Given the description of an element on the screen output the (x, y) to click on. 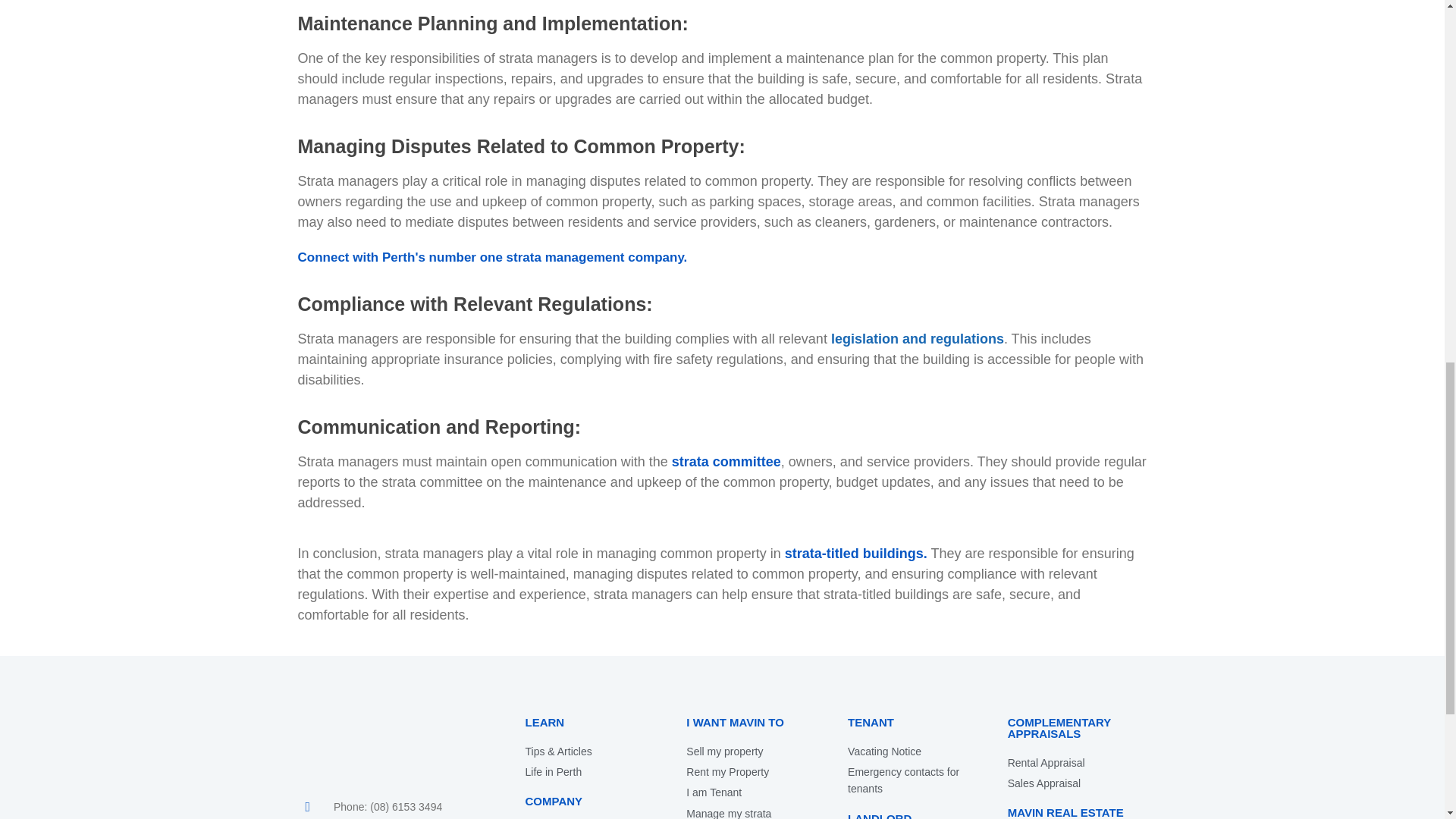
Life in Perth (590, 771)
strata-titled buildings. (855, 553)
Rent my Property (750, 771)
strata committee (725, 461)
Sell my property (750, 751)
I am Tenant (750, 791)
Connect with Perth's number one strata management company. (492, 257)
legislation and regulations (917, 338)
Manage my strata (750, 812)
